Given the description of an element on the screen output the (x, y) to click on. 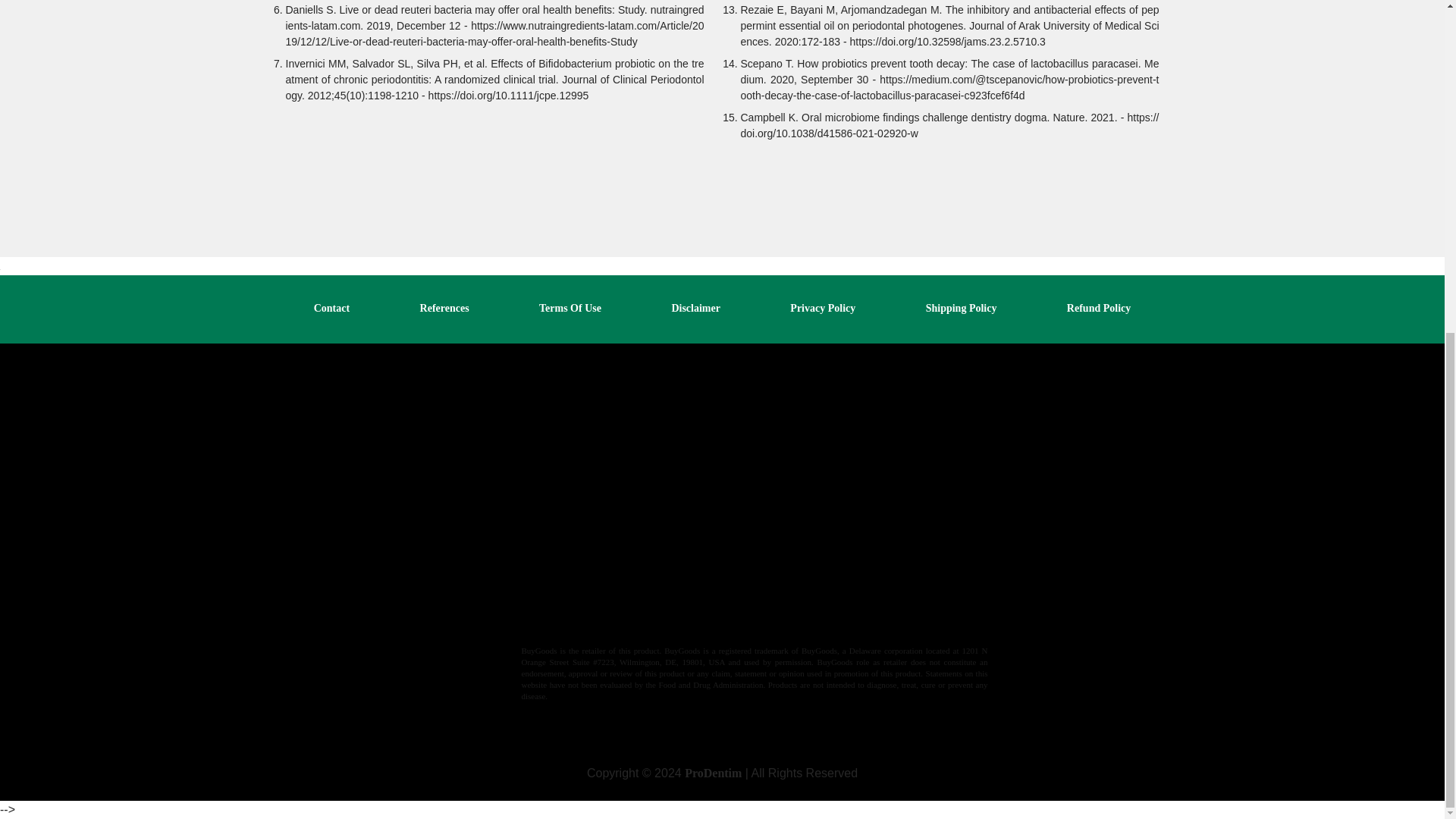
References (444, 307)
Read more here (659, 617)
Shipping Policy (961, 307)
Refund Policy (1099, 307)
Contact (331, 307)
Terms Of Use (569, 307)
Disclaimer (695, 307)
Privacy Policy (823, 307)
